Given the description of an element on the screen output the (x, y) to click on. 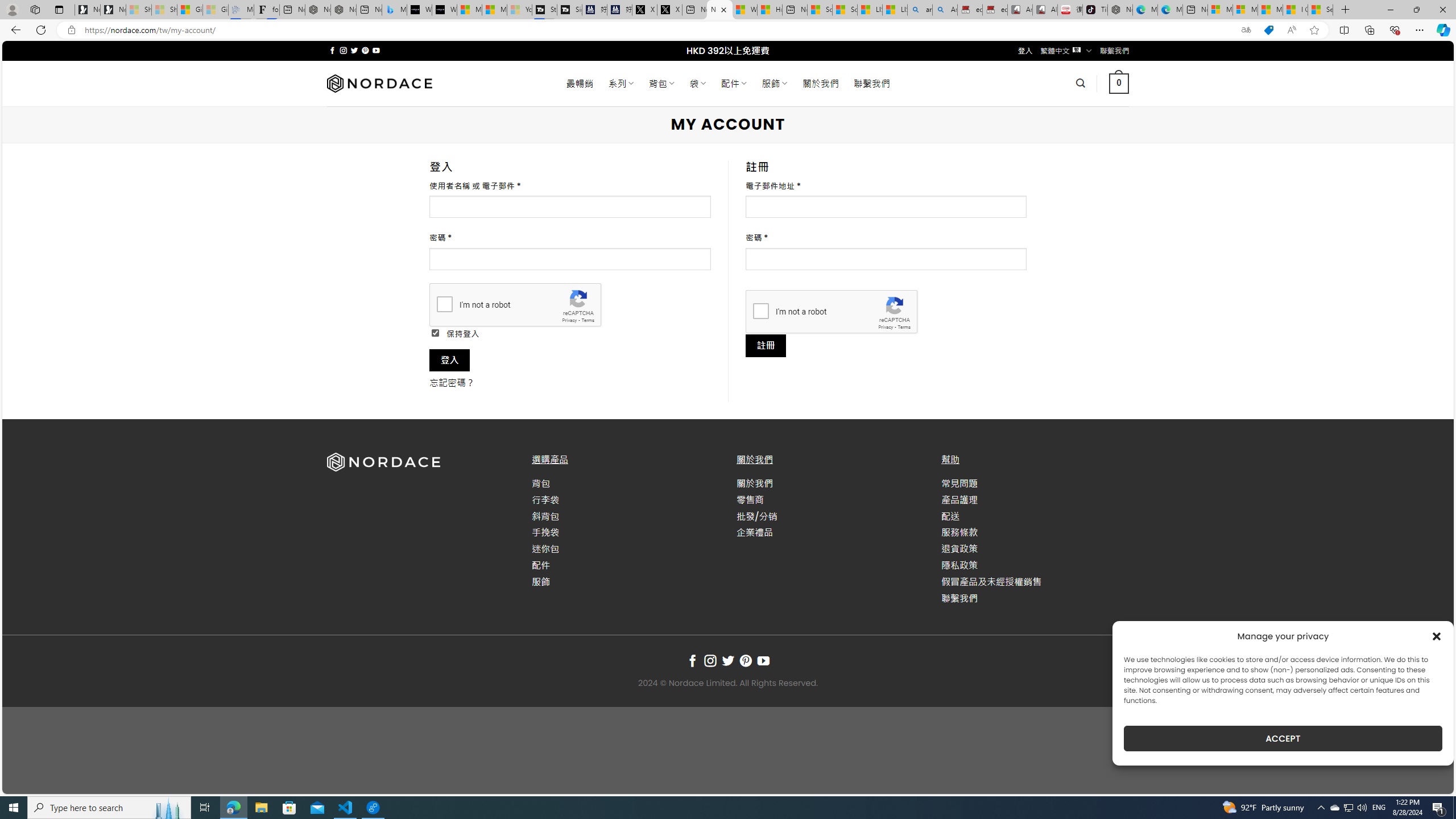
View site information (70, 29)
Restore (1416, 9)
Follow on Pinterest (745, 660)
New tab (1194, 9)
Browser essentials (1394, 29)
Address and search bar (658, 29)
